Given the description of an element on the screen output the (x, y) to click on. 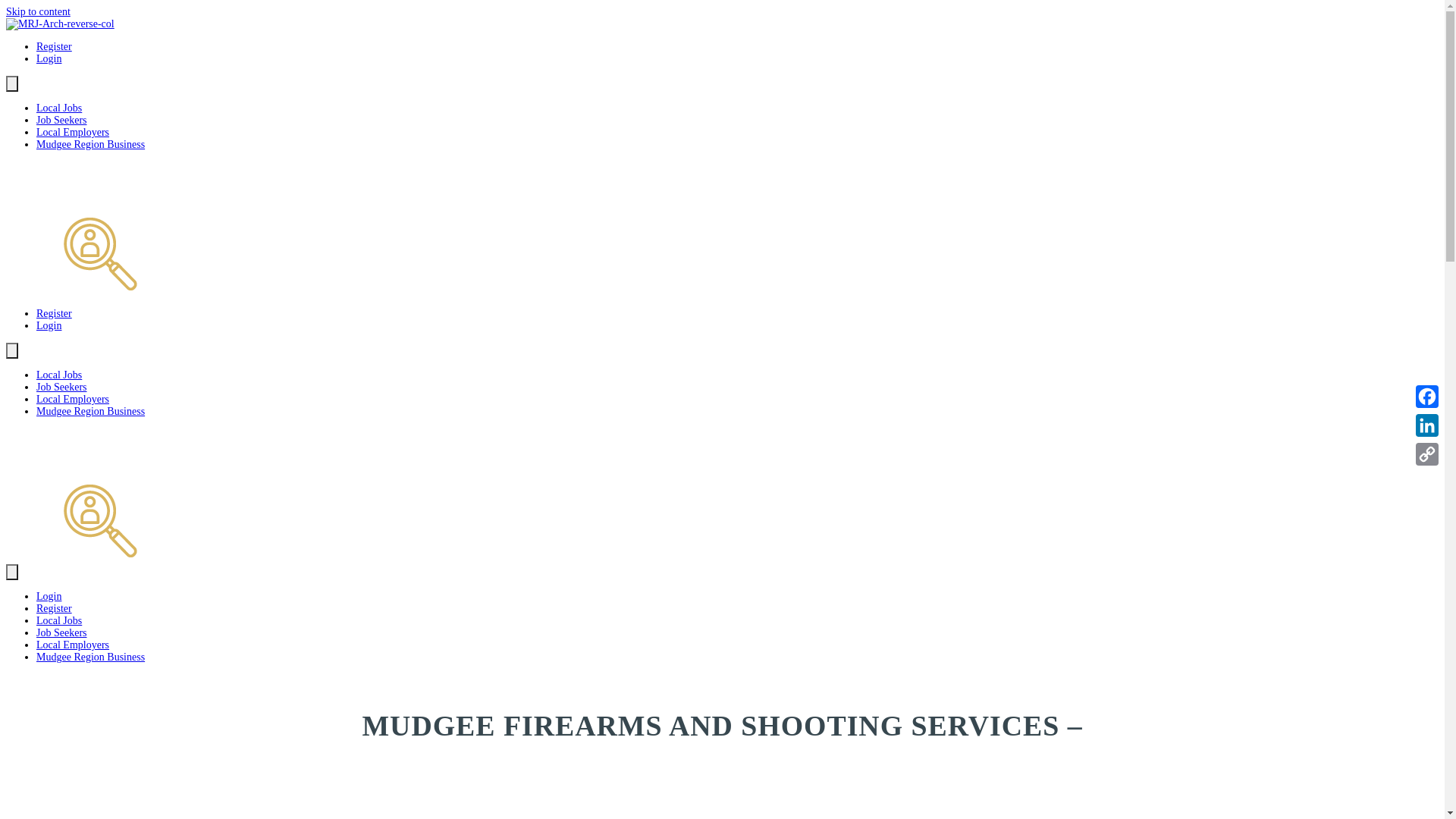
Local Employers Element type: text (72, 644)
Register Element type: text (54, 313)
Local Jobs Element type: text (58, 107)
Job Seekers Element type: text (61, 119)
MRJ-Arch-reverse-col Element type: hover (60, 24)
Local Jobs Element type: text (58, 374)
LinkedIn Element type: text (1426, 425)
Register Element type: text (54, 608)
Register Element type: text (54, 46)
Skip to content Element type: text (38, 11)
MRJ-Arch-reverse-col Element type: hover (113, 227)
Job Seekers Element type: text (61, 386)
Login Element type: text (48, 596)
Mudgee Region Business Element type: text (90, 656)
Mudgee Region Business Element type: text (90, 144)
Facebook Element type: text (1426, 396)
Copy Link Element type: text (1426, 453)
Local Employers Element type: text (72, 132)
MRJ-Arch-reverse-col Element type: hover (113, 494)
Local Jobs Element type: text (58, 620)
Local Employers Element type: text (72, 398)
Login Element type: text (48, 58)
Mudgee Region Business Element type: text (90, 411)
Job Seekers Element type: text (61, 632)
Login Element type: text (48, 325)
